Given the description of an element on the screen output the (x, y) to click on. 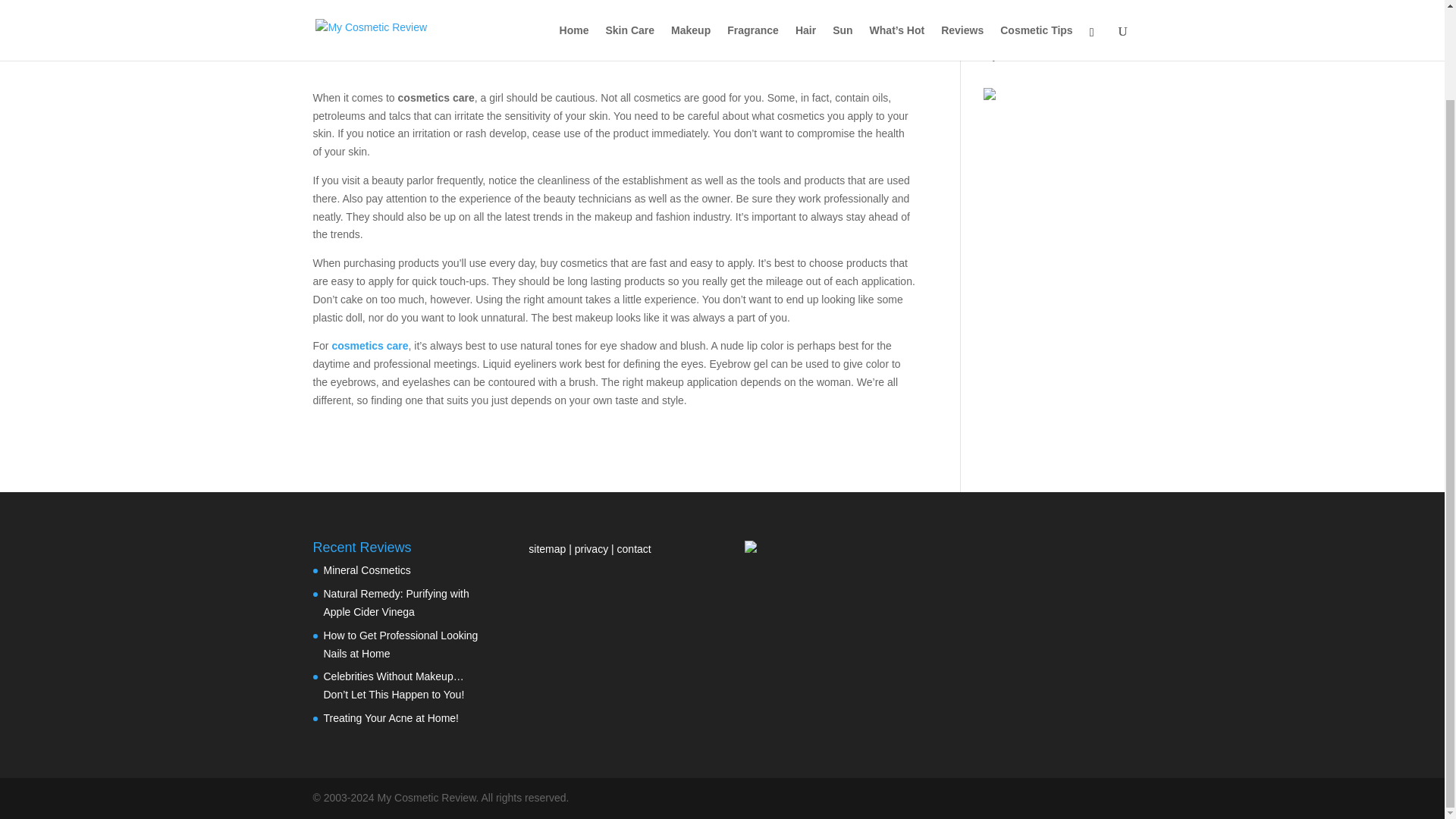
My Account (1011, 55)
cosmetics care (369, 345)
Treating Your Acne at Home! (390, 717)
About Cosmetic Review (1040, 31)
privacy (591, 548)
Natural Remedy: Purifying with Apple Cider Vinega (395, 603)
admin (340, 40)
Cosmetics (458, 40)
contact (633, 548)
sitemap (548, 548)
How to Get Professional Looking Nails at Home (400, 644)
Mineral Cosmetics (366, 570)
Posts by admin (340, 40)
